Given the description of an element on the screen output the (x, y) to click on. 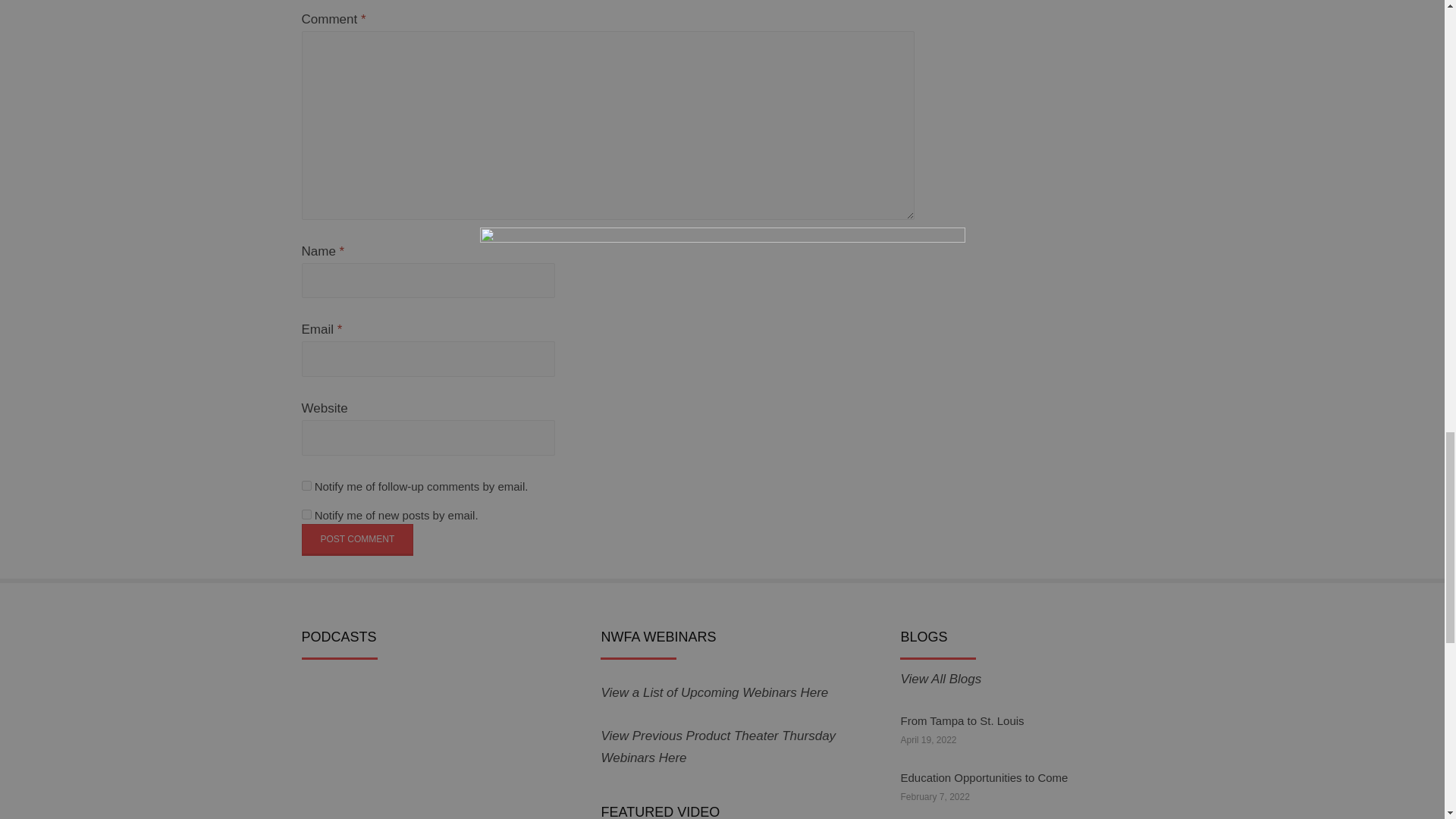
subscribe (306, 514)
subscribe (306, 485)
PODCASTS (376, 750)
Post Comment (357, 540)
